Given the description of an element on the screen output the (x, y) to click on. 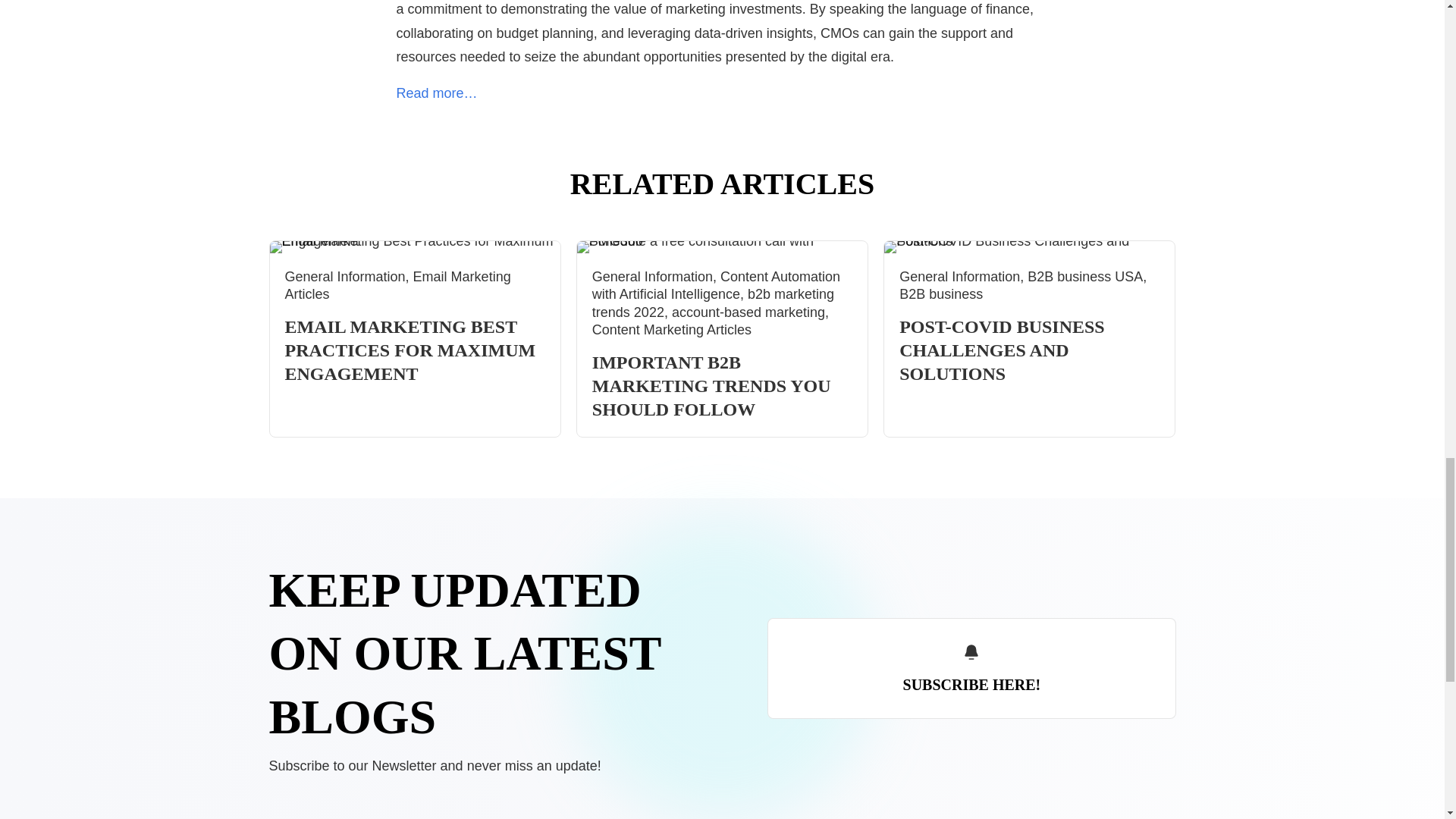
Content Automation with Artificial Intelligence (716, 285)
Email Marketing Articles (398, 285)
B2B business (940, 294)
General Information (652, 276)
Content Marketing Articles (671, 329)
General Information (959, 276)
B2B business USA (1084, 276)
IMPORTANT B2B MARKETING TRENDS YOU SHOULD FOLLOW (711, 385)
General Information (345, 276)
b2b marketing trends 2022 (713, 302)
POST-COVID BUSINESS CHALLENGES AND SOLUTIONS (1002, 350)
account-based marketing (748, 312)
EMAIL MARKETING BEST PRACTICES FOR MAXIMUM ENGAGEMENT (410, 350)
